Given the description of an element on the screen output the (x, y) to click on. 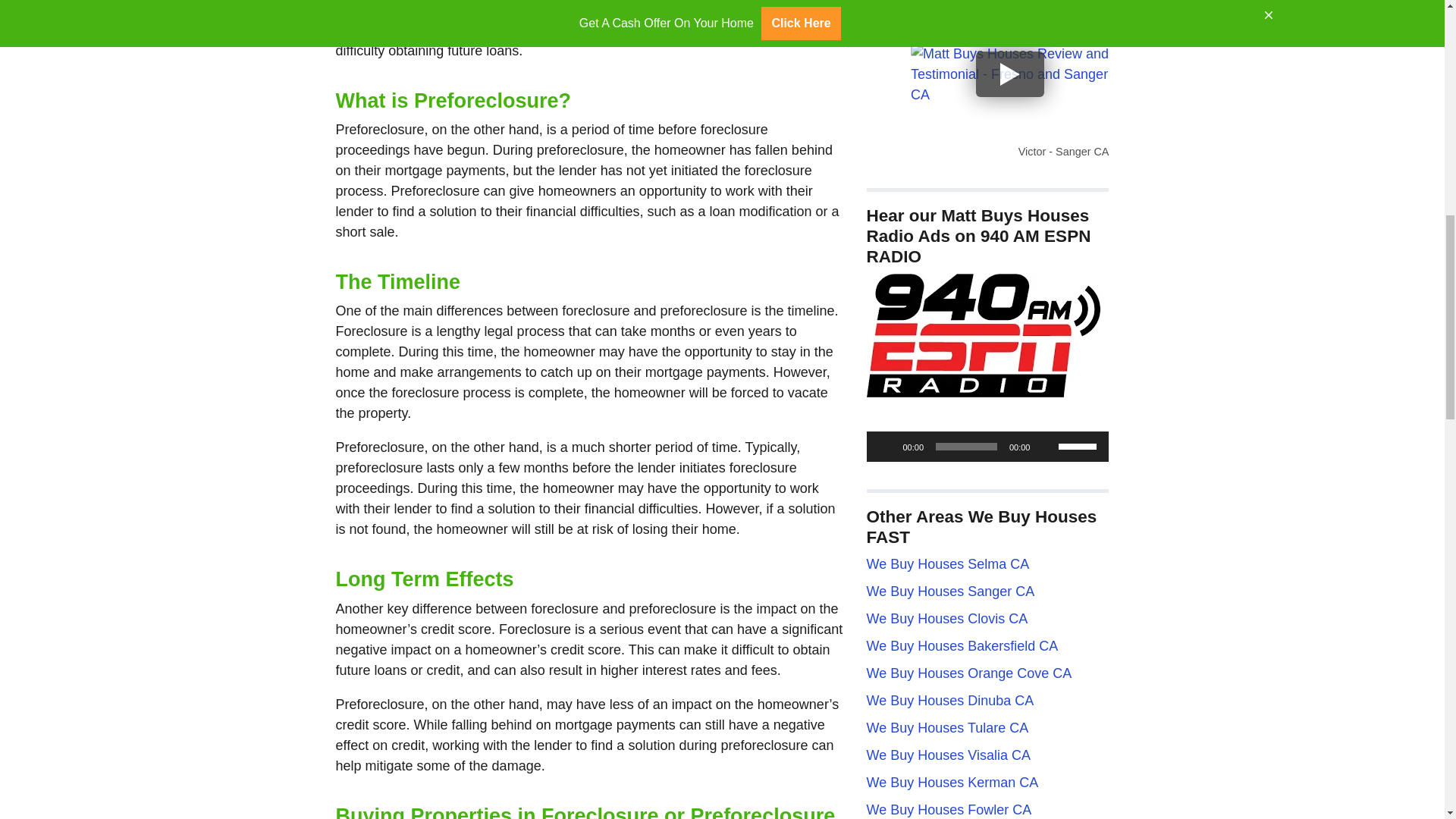
We Buy Houses Visalia CA (947, 754)
We Buy Houses Sanger CA (949, 590)
We Buy Houses Orange Cove CA (968, 672)
We Buy Houses Fowler CA (948, 809)
Foreclosure (553, 9)
We Buy Houses Dinuba CA (949, 700)
Mute (1046, 446)
We Buy Houses Tulare CA (946, 727)
We Buy Houses Bakersfield CA (962, 645)
We Buy Houses Clovis CA (946, 618)
